Given the description of an element on the screen output the (x, y) to click on. 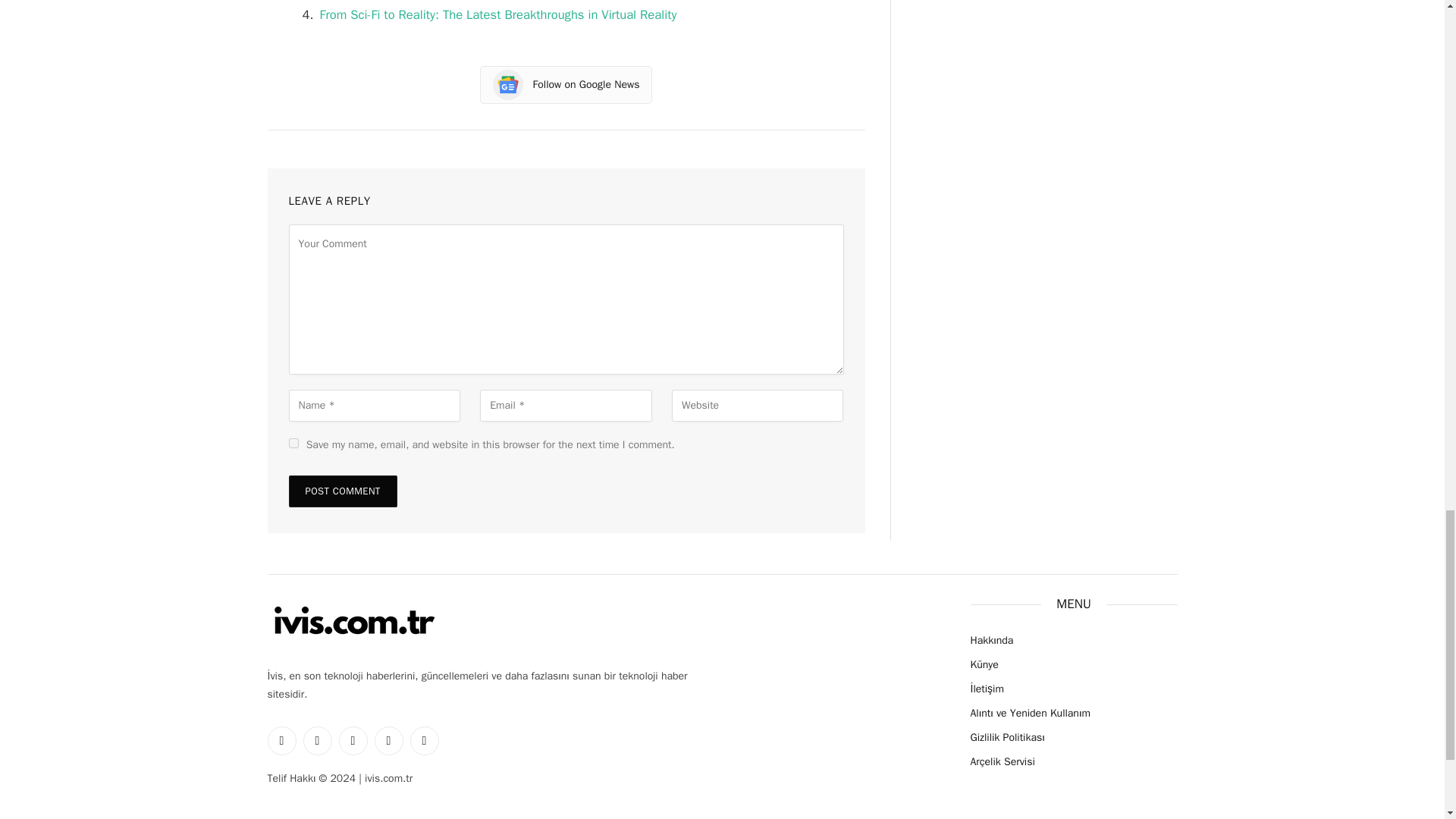
yes (293, 442)
Post Comment (342, 490)
